Given the description of an element on the screen output the (x, y) to click on. 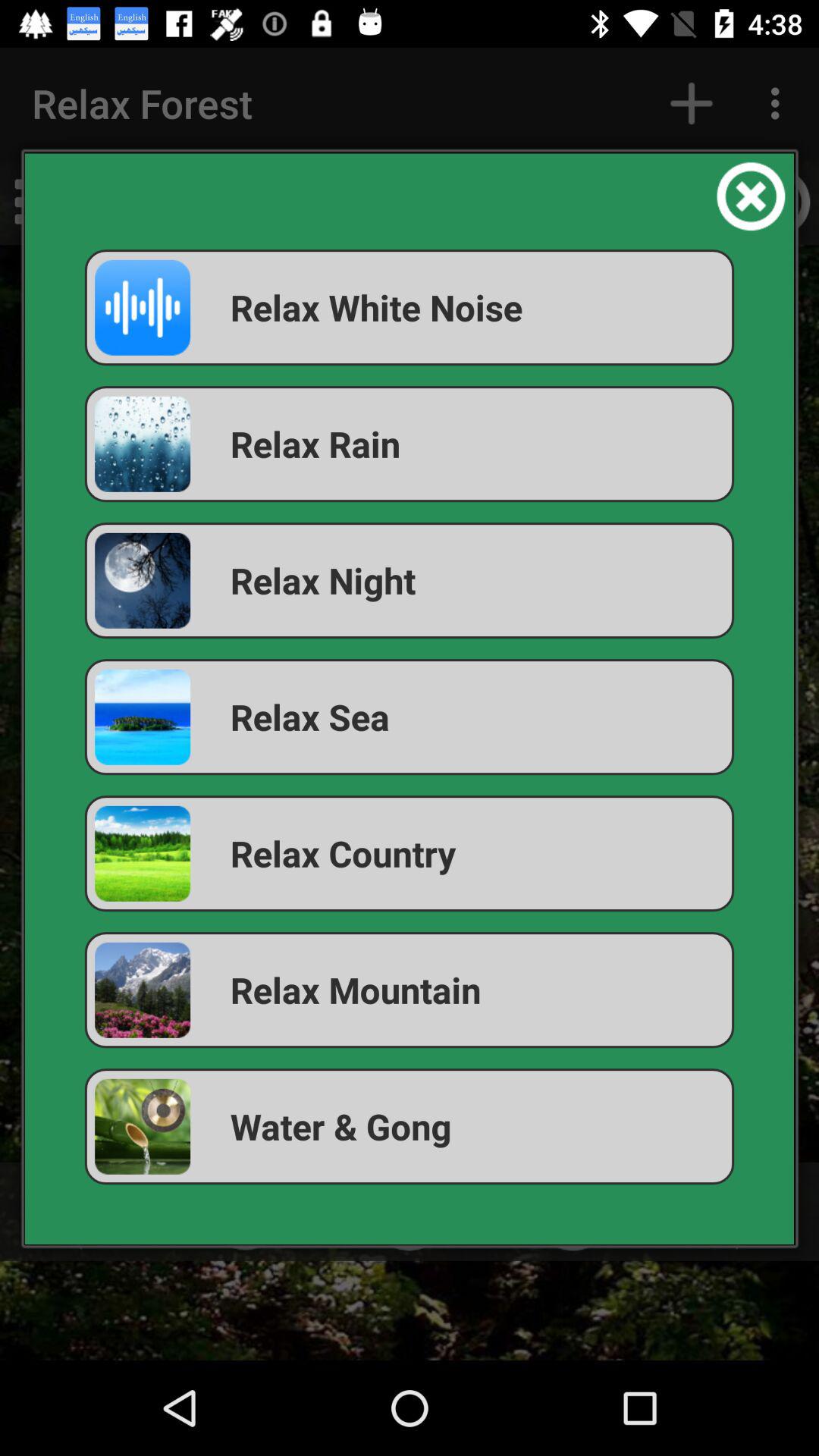
scroll to relax mountain app (409, 990)
